Given the description of an element on the screen output the (x, y) to click on. 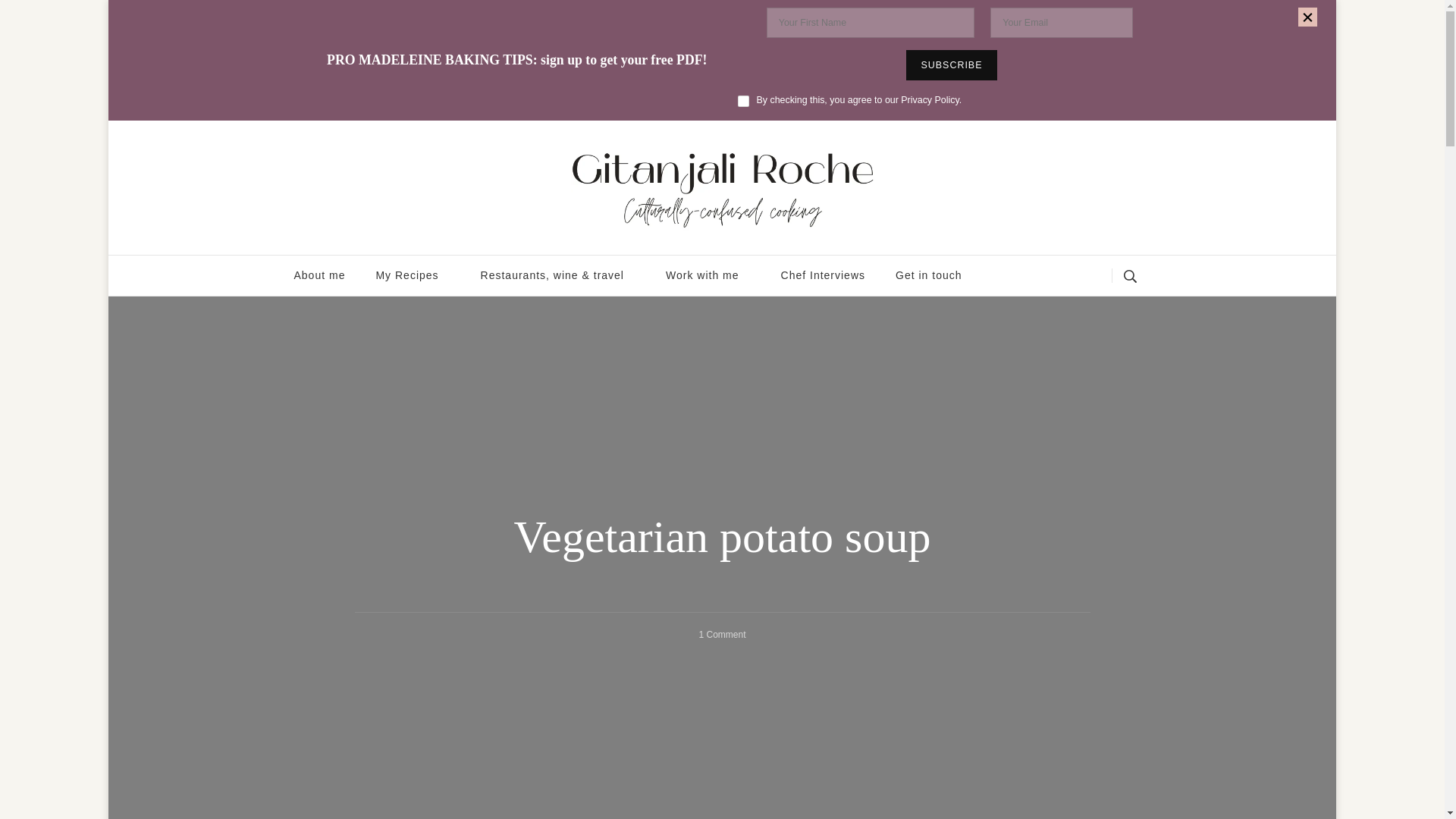
My Recipes (411, 275)
About me (320, 275)
Gitanjali Roche (355, 250)
Subscribe (951, 64)
Subscribe (951, 64)
